Given the description of an element on the screen output the (x, y) to click on. 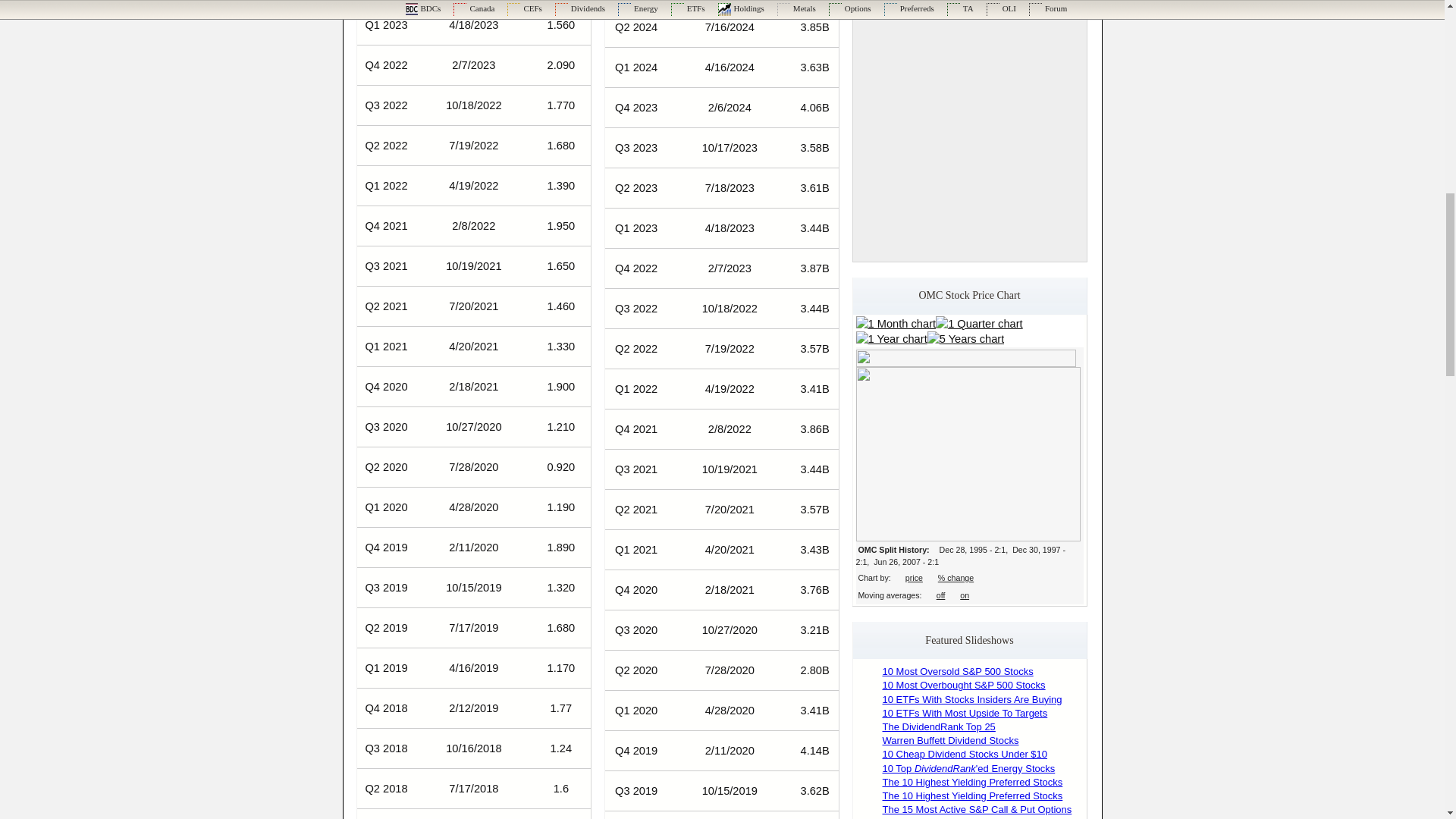
off (940, 594)
on (964, 594)
price (914, 577)
10 ETFs With Most Upside To Targets (965, 713)
10 ETFs With Stocks Insiders Are Buying (972, 699)
The DividendRank Top 25 (938, 726)
